Given the description of an element on the screen output the (x, y) to click on. 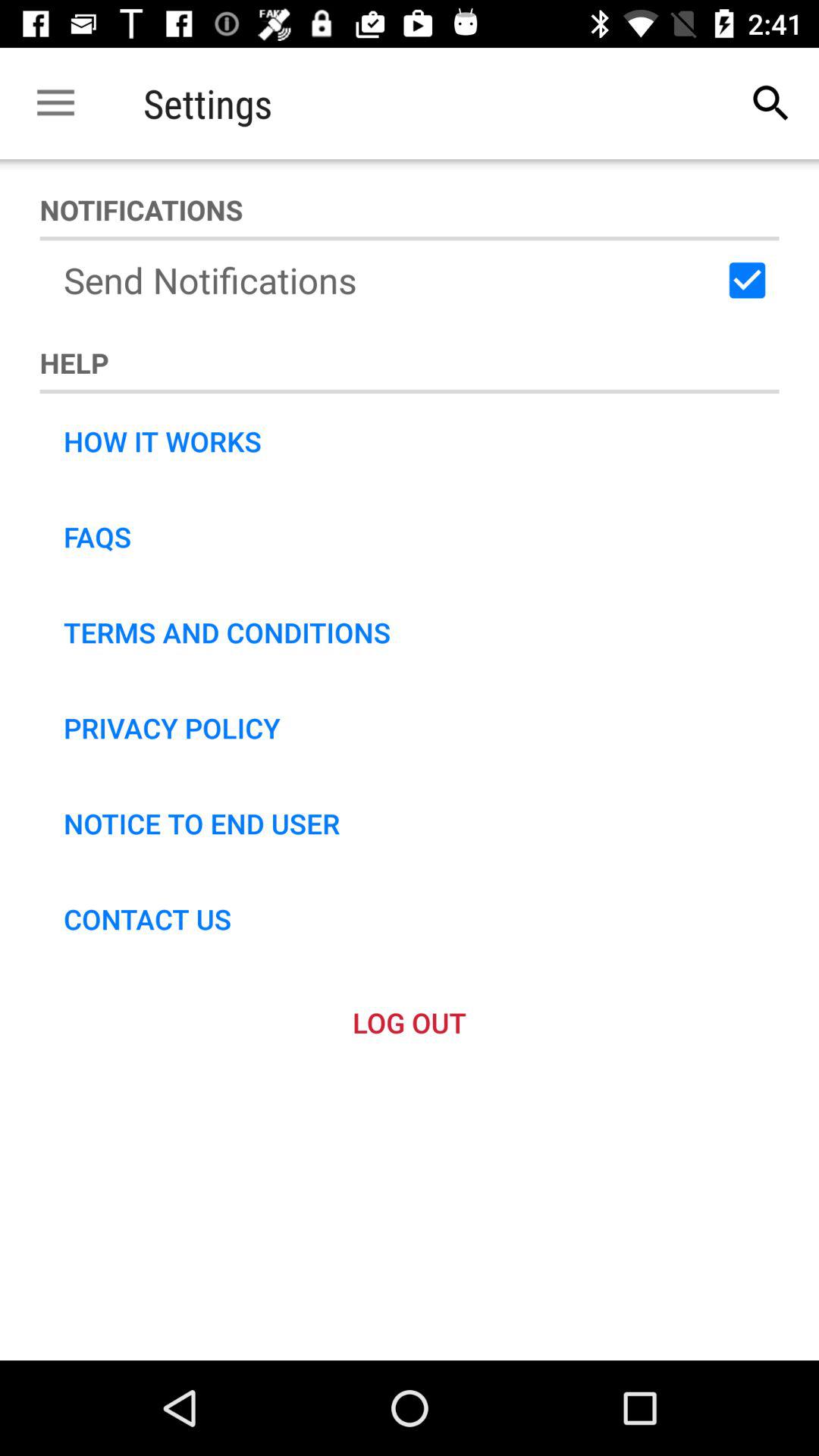
launch app next to the settings (771, 103)
